Given the description of an element on the screen output the (x, y) to click on. 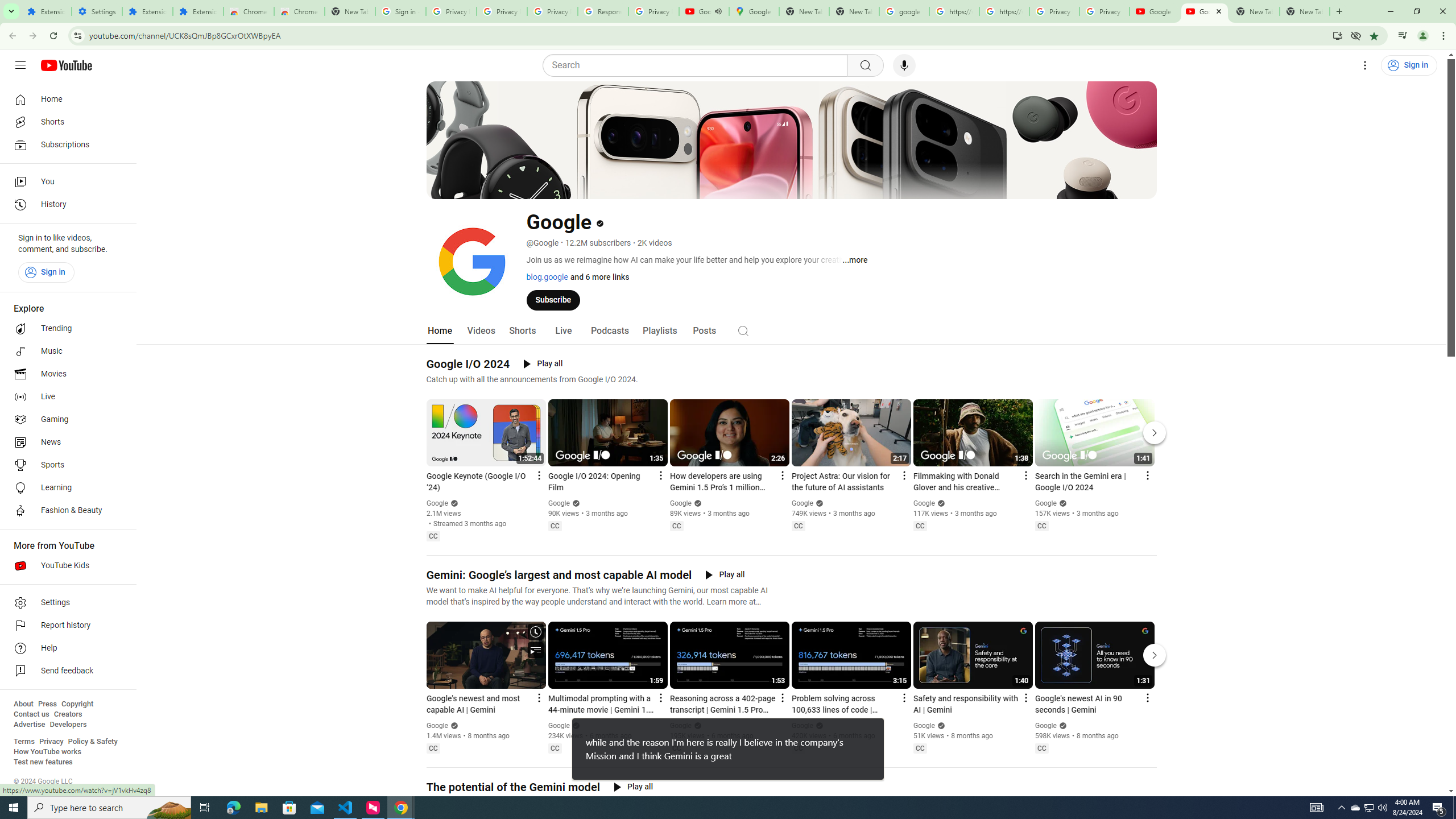
Learning (64, 487)
Guide (20, 65)
blog.google (546, 276)
Shorts (64, 121)
Movies (64, 373)
Policy & Safety (91, 741)
Chrome Web Store - Themes (299, 11)
Google Maps (753, 11)
Install YouTube (1336, 35)
History (64, 204)
Play all (633, 787)
